Given the description of an element on the screen output the (x, y) to click on. 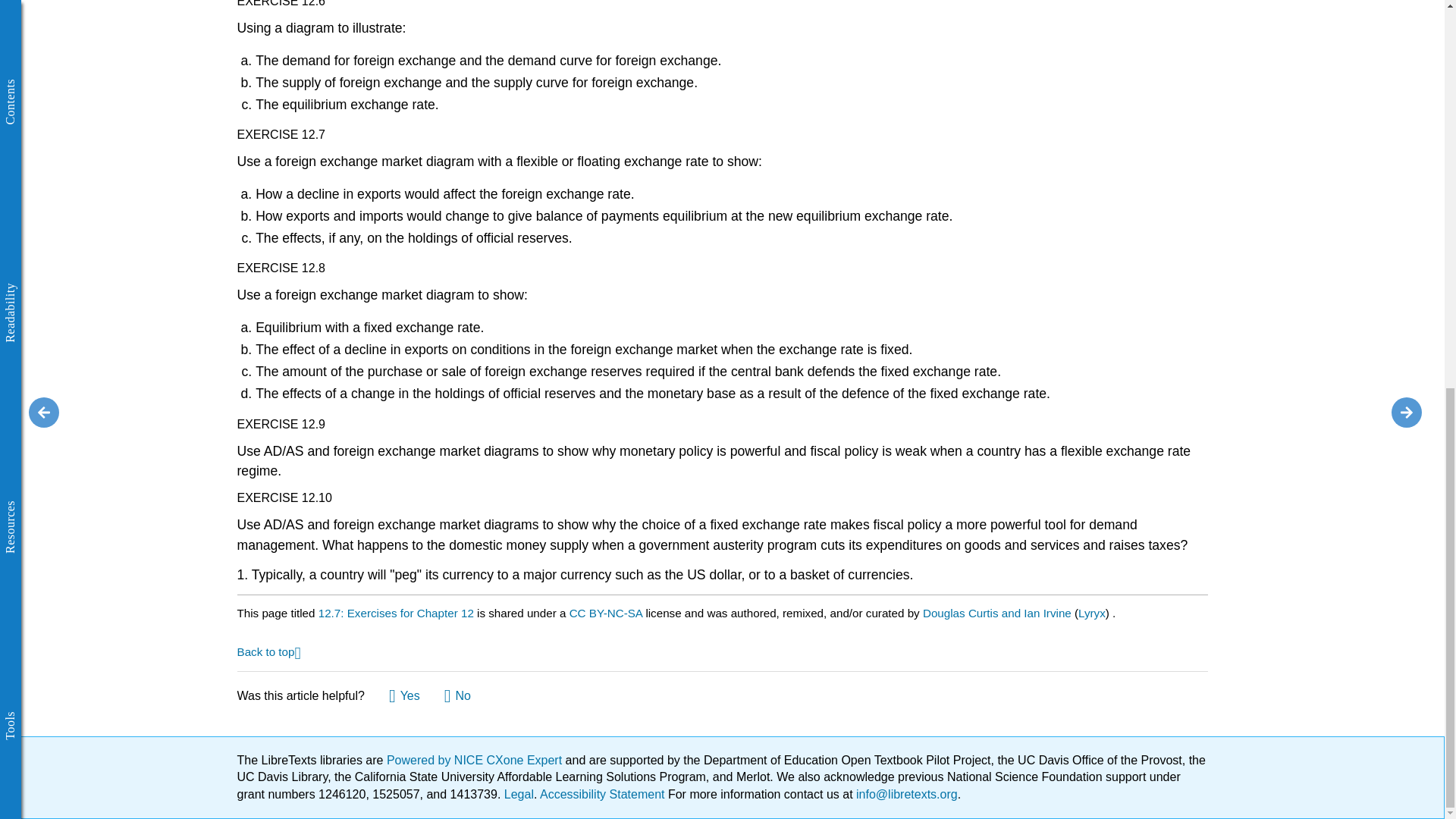
Jump back to top of this article (267, 651)
